Given the description of an element on the screen output the (x, y) to click on. 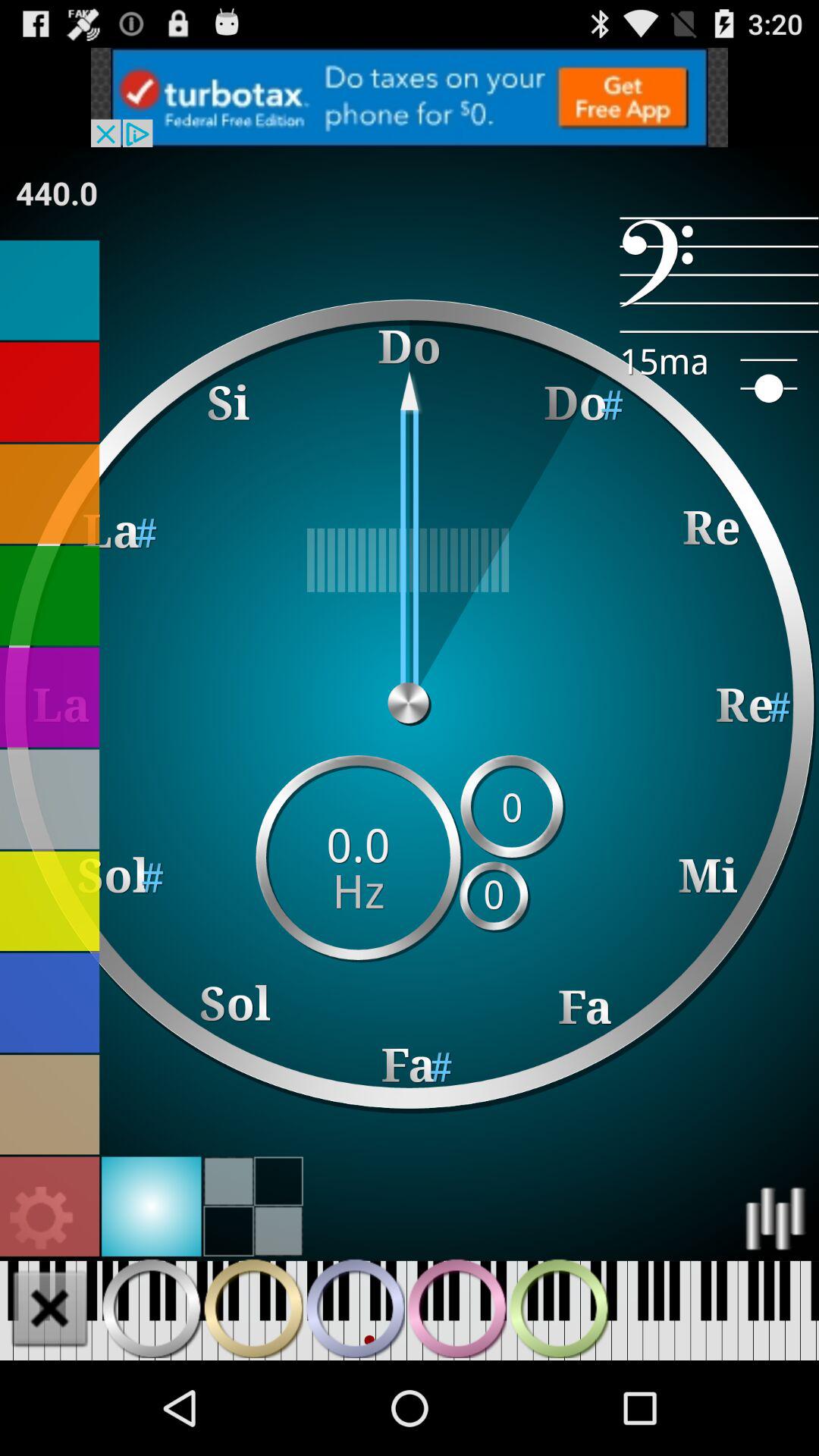
choose yellow color (49, 900)
